Given the description of an element on the screen output the (x, y) to click on. 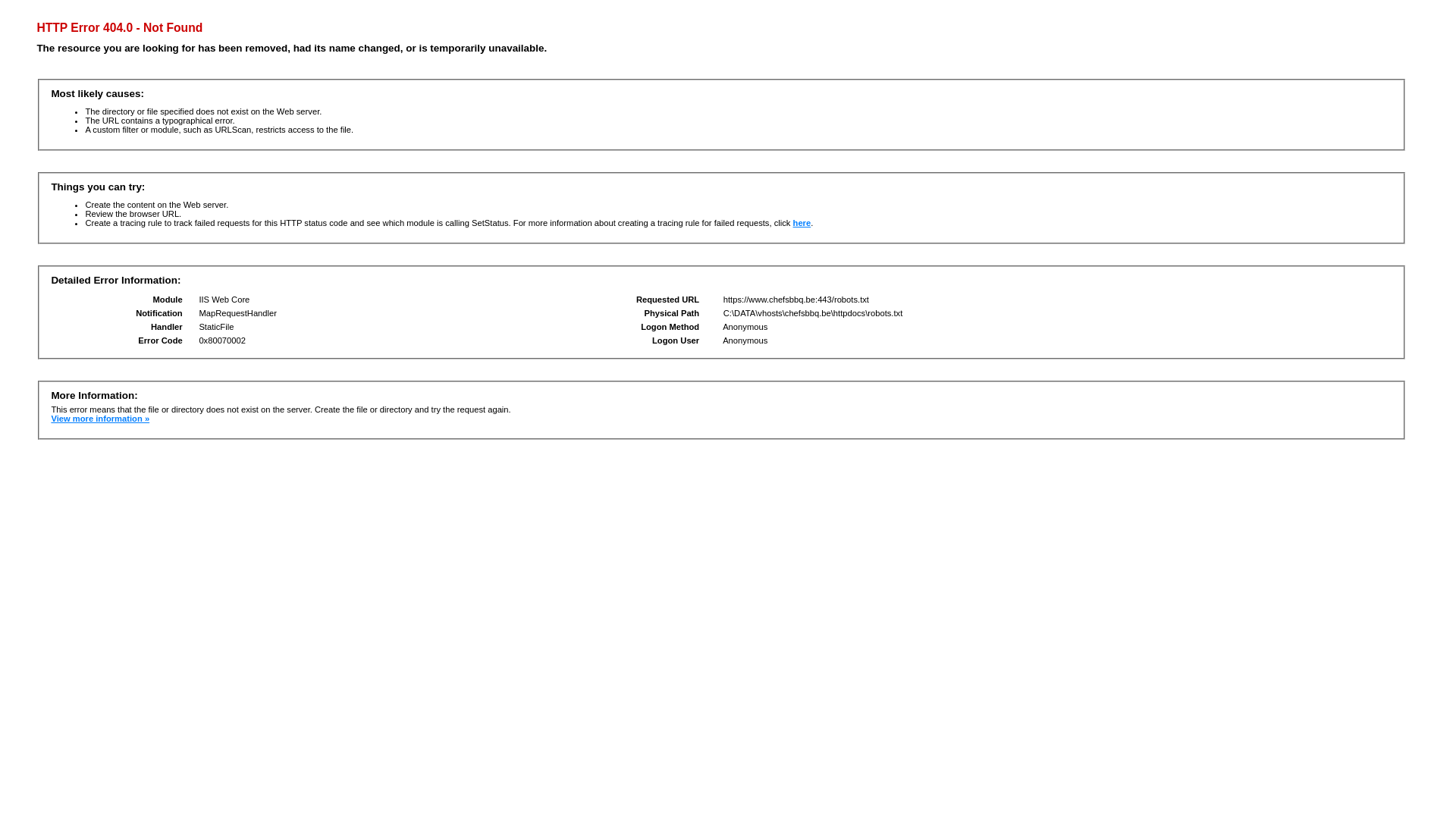
here Element type: text (802, 222)
